Given the description of an element on the screen output the (x, y) to click on. 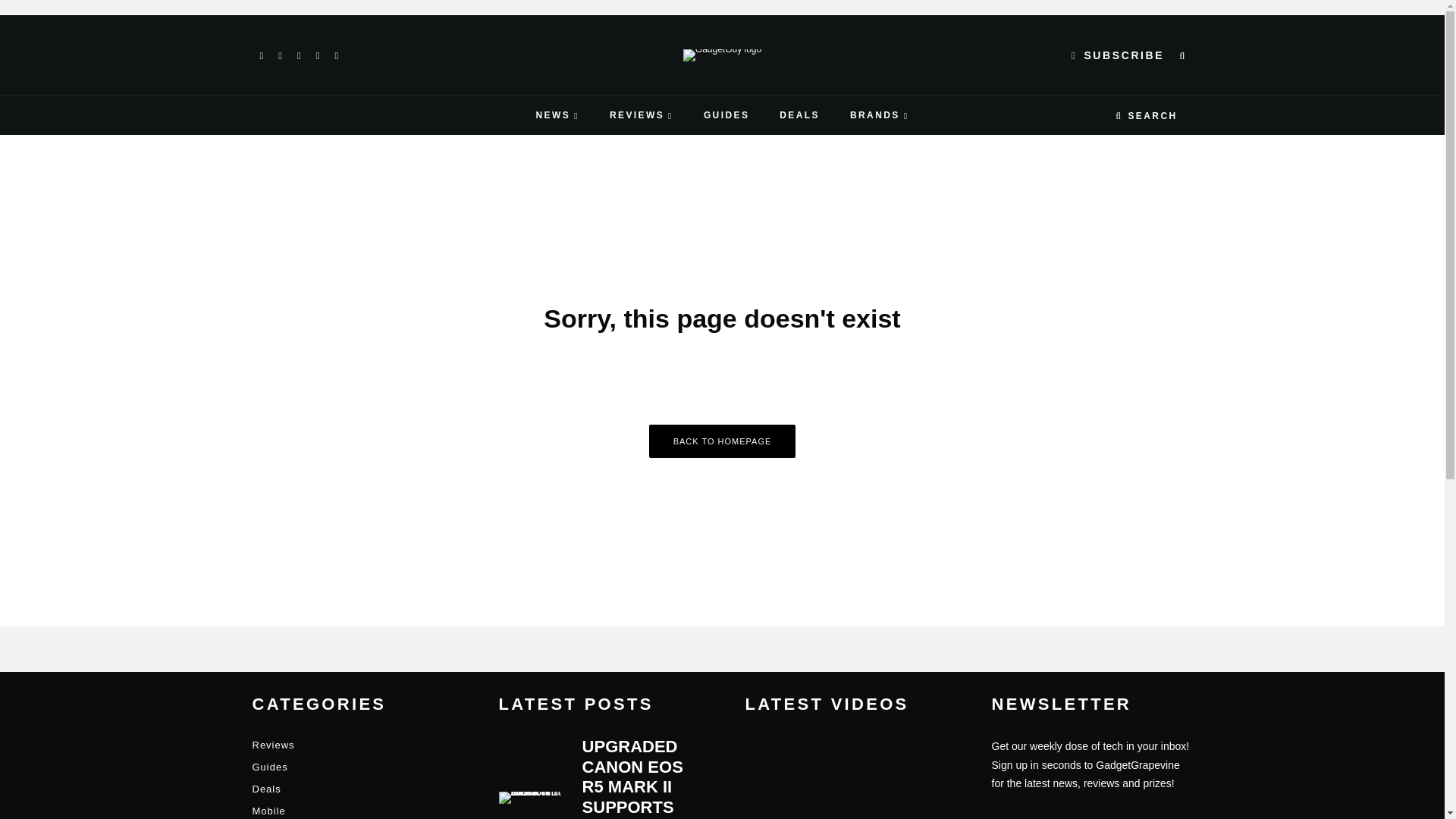
Canon EOS R5 Mark II launch Australia (533, 797)
NEWS (557, 115)
SUBSCRIBE (1118, 55)
